Given the description of an element on the screen output the (x, y) to click on. 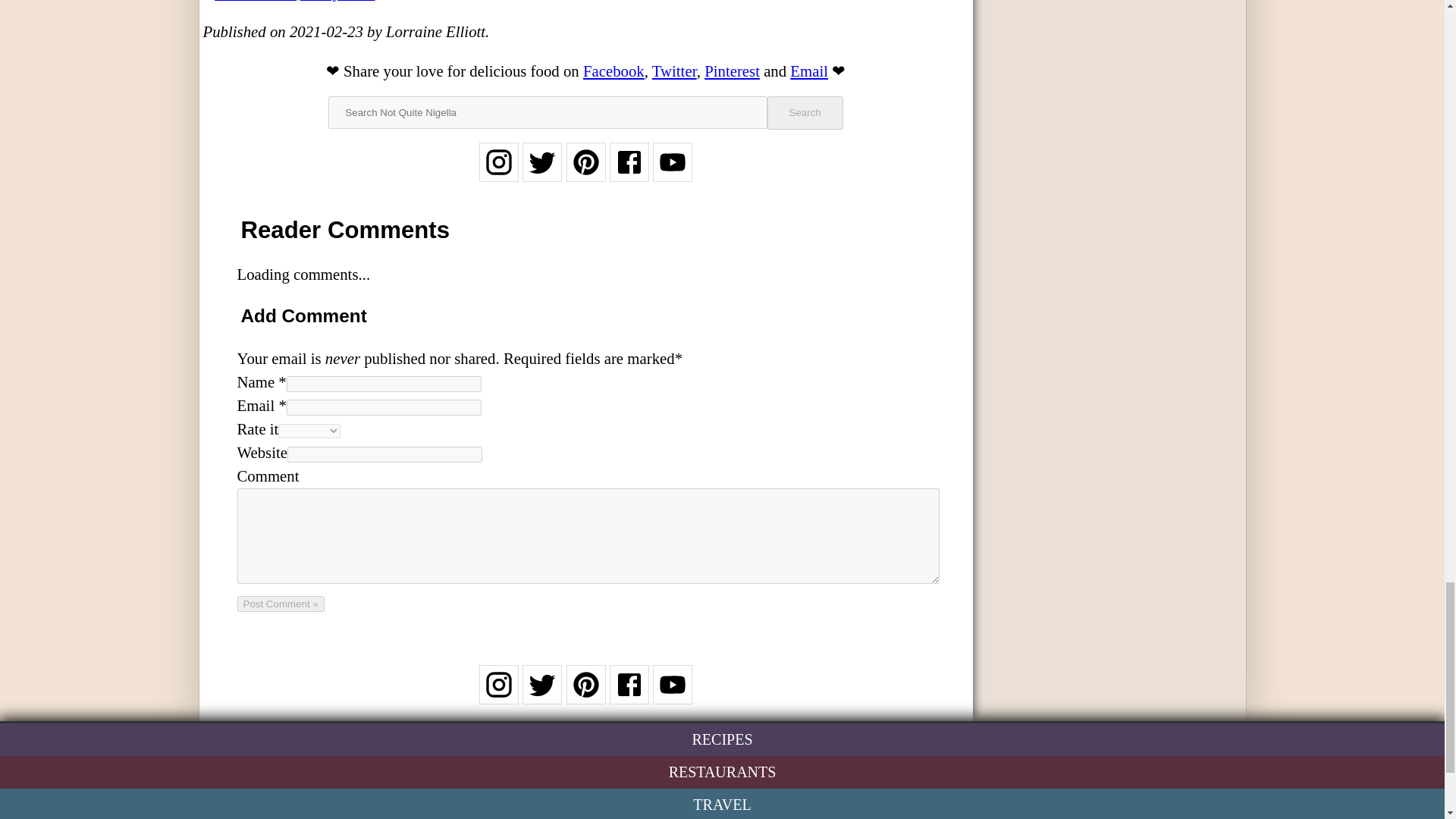
delicious food (513, 70)
Follow on Facebook (629, 171)
Pinterest (732, 70)
Share on Facebook (614, 70)
Pin it (732, 70)
Follow on YouTube (672, 171)
Email (809, 70)
Search (805, 112)
Search (805, 112)
Follow on Pinterest (584, 693)
Follow on Twitter (542, 693)
Follow on Instagram (498, 171)
Twitter (674, 70)
Email (809, 70)
